Given the description of an element on the screen output the (x, y) to click on. 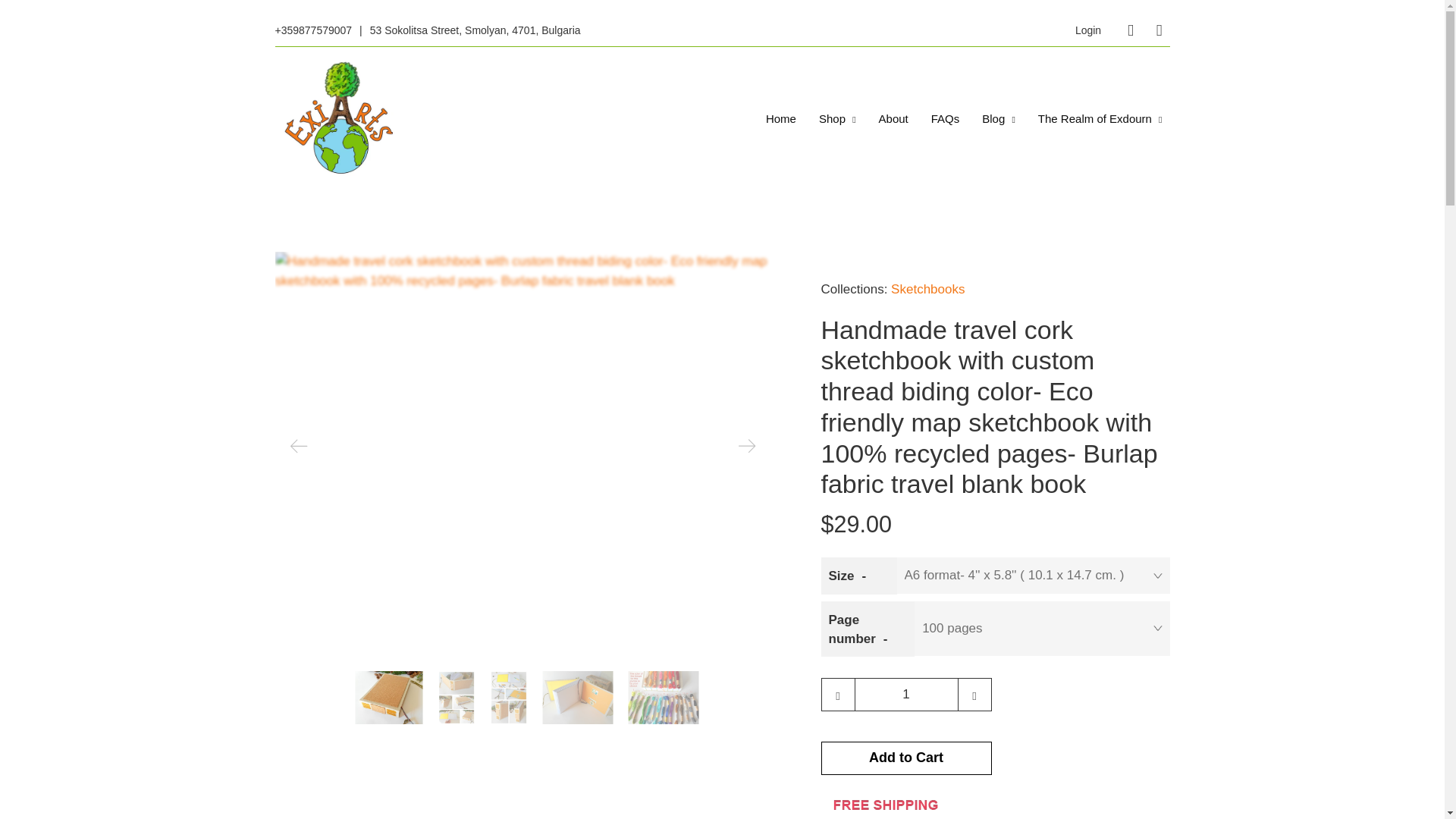
Home (780, 119)
My Account  (1087, 30)
1 (905, 694)
FAQs (945, 119)
The Realm of Exdourn (1100, 119)
Sketchbooks (927, 288)
Blog (998, 119)
About (892, 119)
Shop (836, 119)
Login (1087, 30)
